Given the description of an element on the screen output the (x, y) to click on. 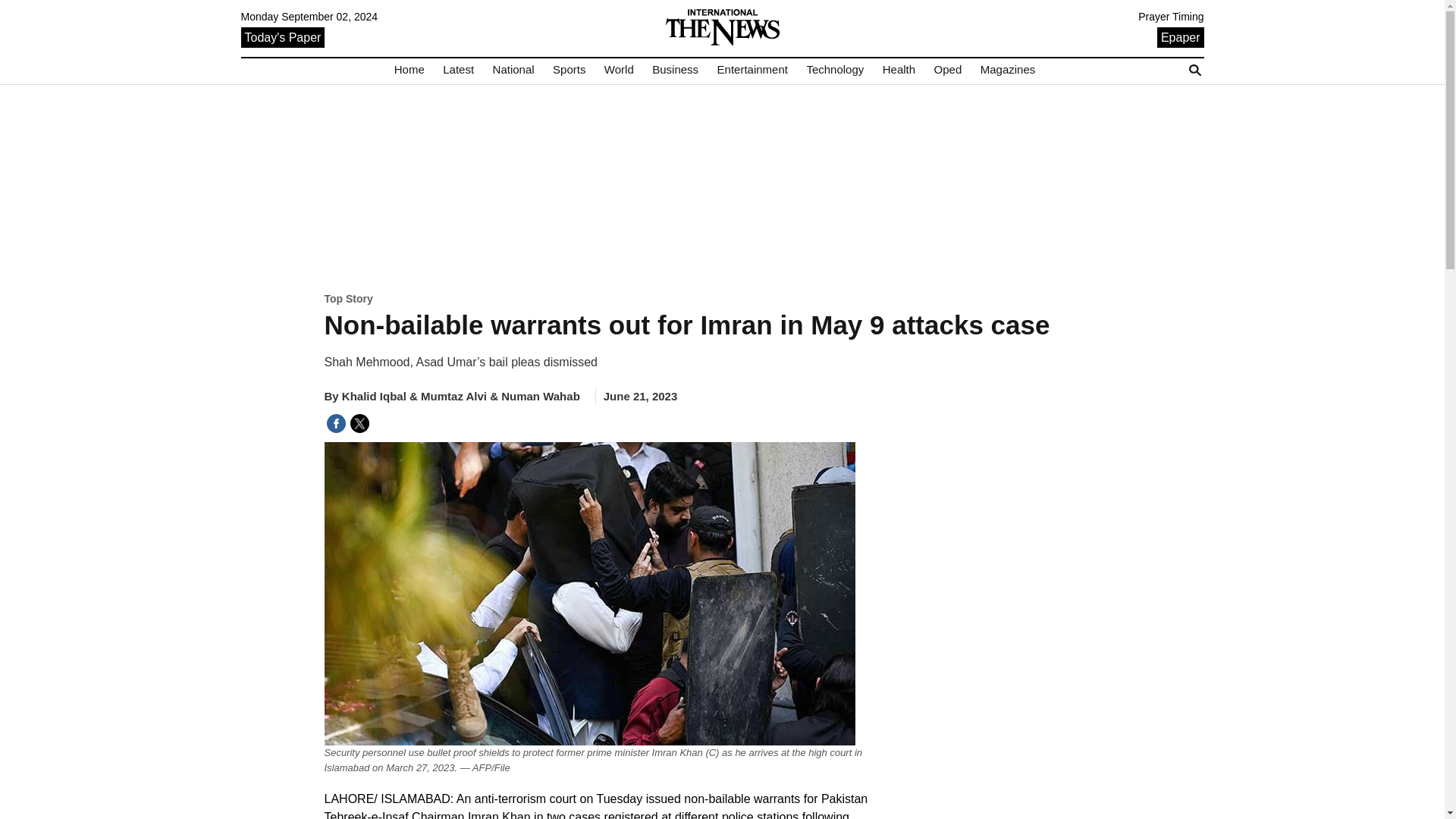
Home (409, 69)
Latest (458, 69)
National (512, 69)
Epaper (1180, 37)
Health (899, 69)
Sports (568, 69)
Today's Paper (282, 37)
Technology (833, 69)
Entertainment (752, 69)
World (619, 69)
